Given the description of an element on the screen output the (x, y) to click on. 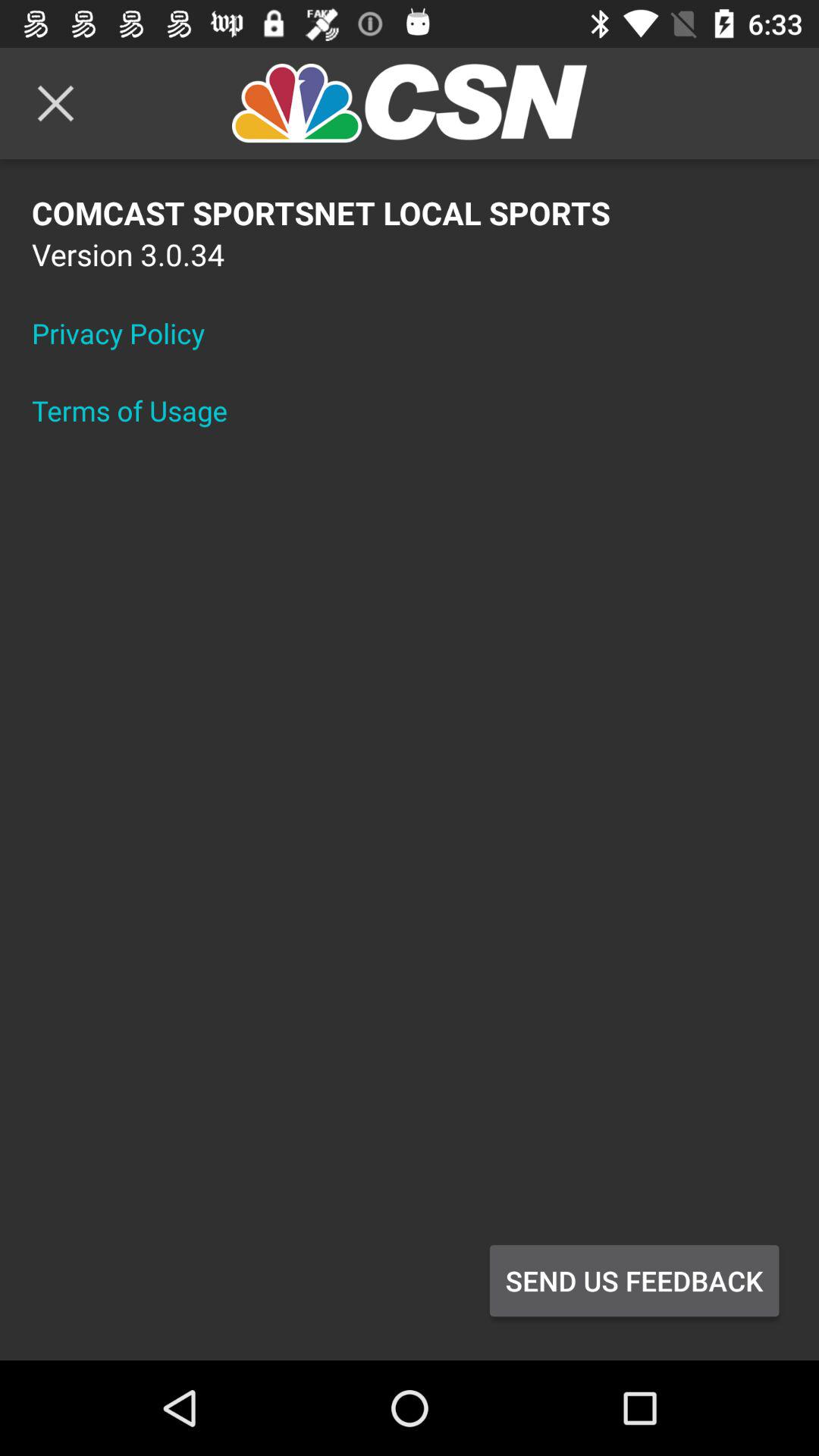
turn on item above terms of usage icon (127, 332)
